Given the description of an element on the screen output the (x, y) to click on. 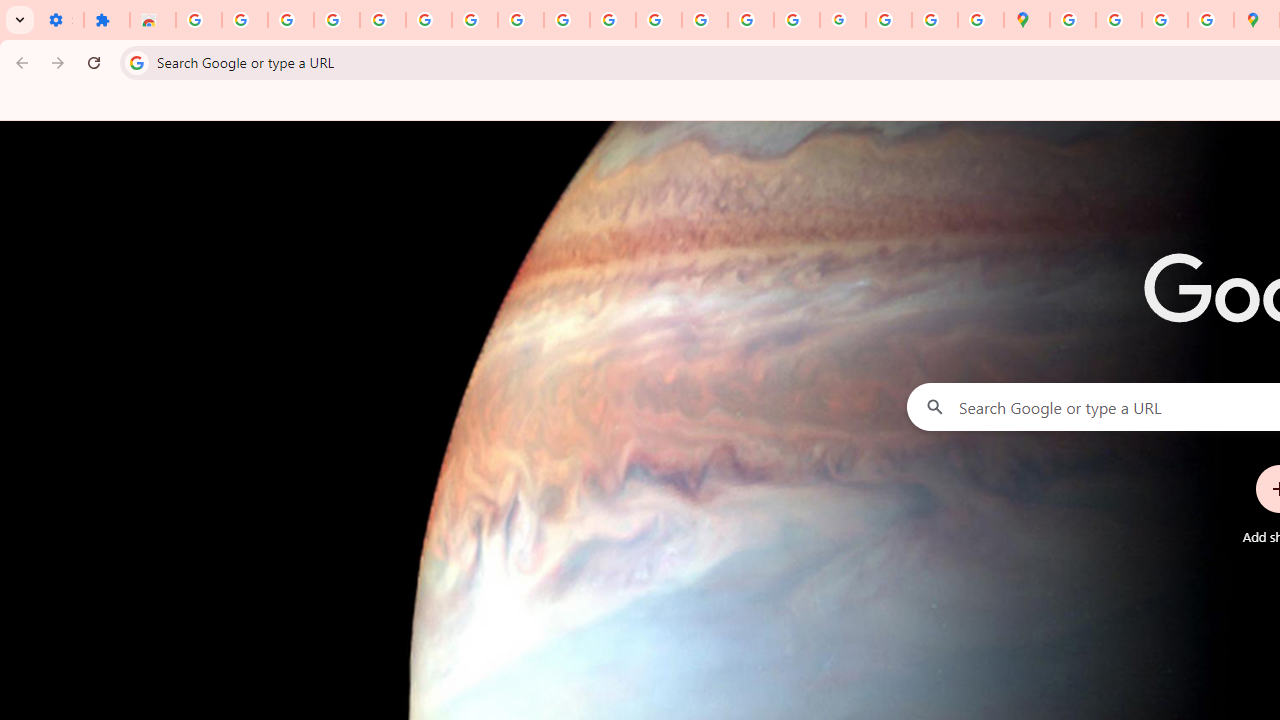
Google Maps (1026, 20)
Settings - On startup (60, 20)
Sign in - Google Accounts (428, 20)
Extensions (107, 20)
